Given the description of an element on the screen output the (x, y) to click on. 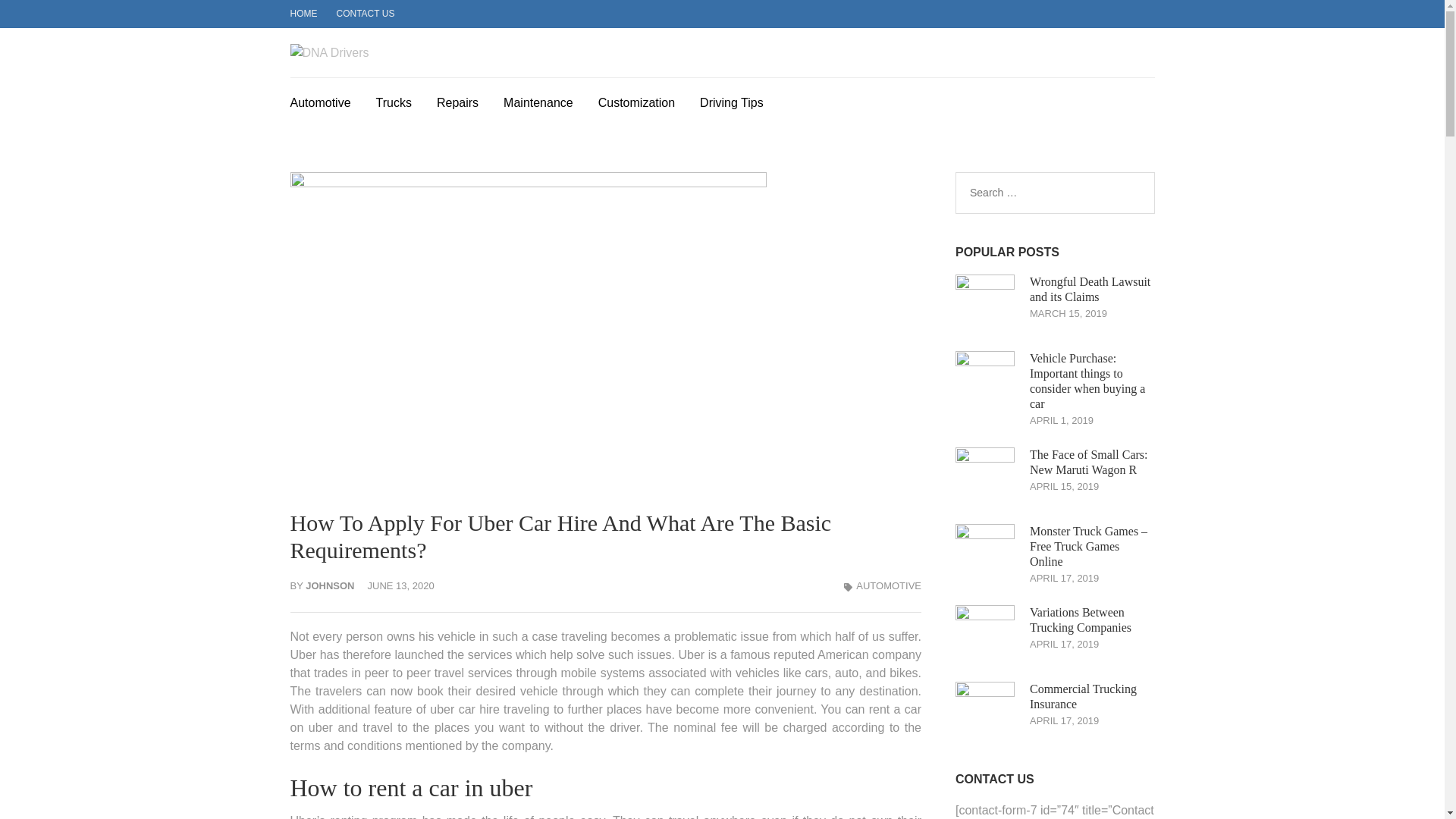
Automotive (319, 100)
JOHNSON (329, 585)
AUTOMOTIVE (888, 585)
Driving Tips (731, 100)
Search (1136, 193)
Repairs (457, 100)
MARCH 15, 2019 (1067, 313)
DNA DRIVERS (478, 69)
Wrongful Death Lawsuit and its Claims (1089, 289)
JUNE 13, 2020 (400, 585)
Customization (636, 100)
HOME (303, 13)
APRIL 1, 2019 (1061, 419)
Search (1136, 193)
